Given the description of an element on the screen output the (x, y) to click on. 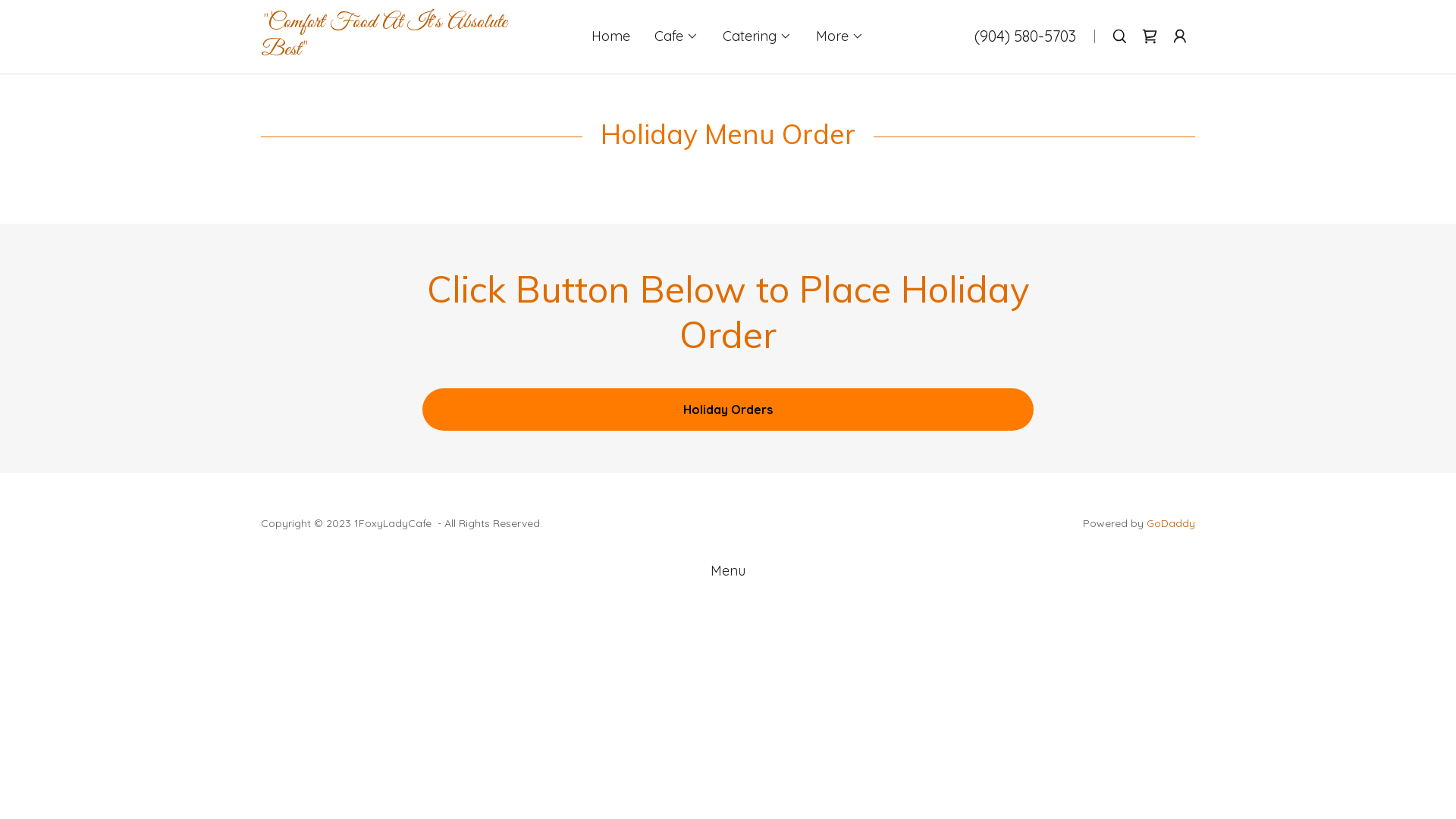
More Element type: text (839, 36)
"Comfort Food At It's Absolute Best" Element type: text (400, 49)
Cafe Element type: text (676, 36)
GoDaddy Element type: text (1170, 523)
Catering Element type: text (756, 36)
Holiday Orders Element type: text (727, 409)
(904) 580-5703 Element type: text (1025, 35)
Menu Element type: text (727, 570)
Home Element type: text (610, 36)
